Given the description of an element on the screen output the (x, y) to click on. 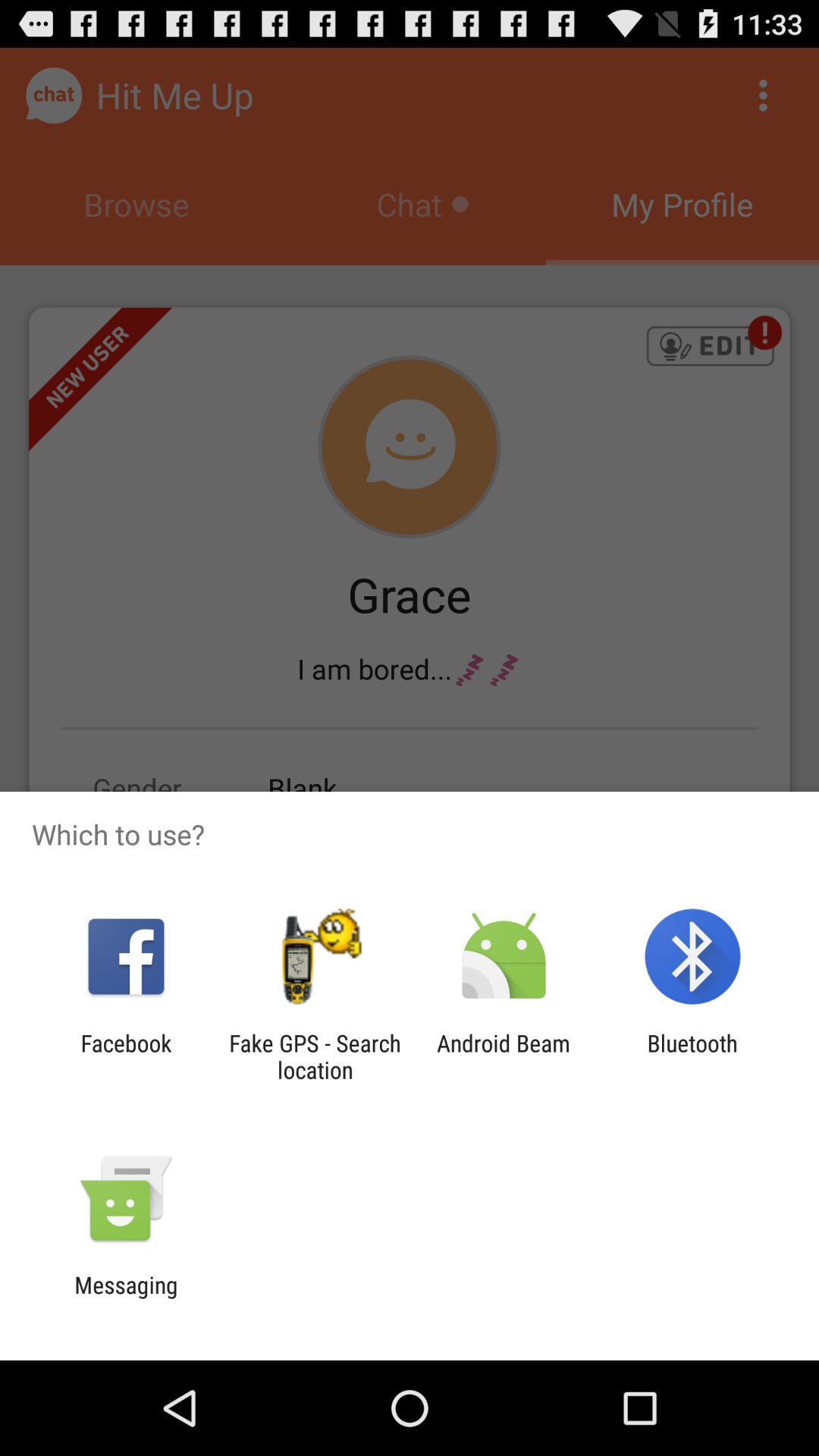
flip to android beam icon (503, 1056)
